Given the description of an element on the screen output the (x, y) to click on. 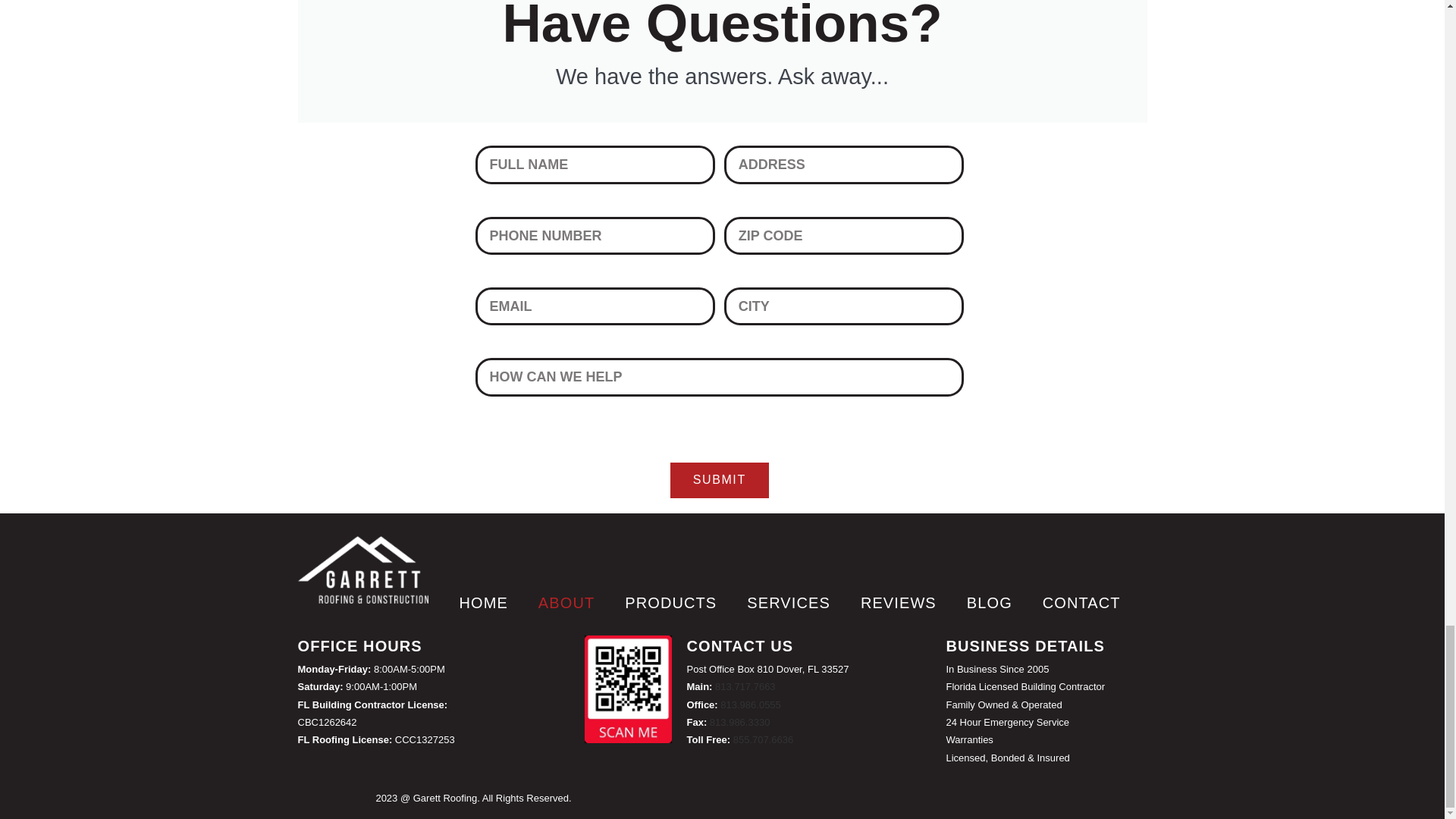
ABOUT (566, 602)
PRODUCTS (671, 602)
SUBMIT (718, 479)
813.717.7663 (745, 686)
BLOG (989, 602)
HOME (483, 602)
SERVICES (788, 602)
CONTACT (1081, 602)
REVIEWS (898, 602)
